Given the description of an element on the screen output the (x, y) to click on. 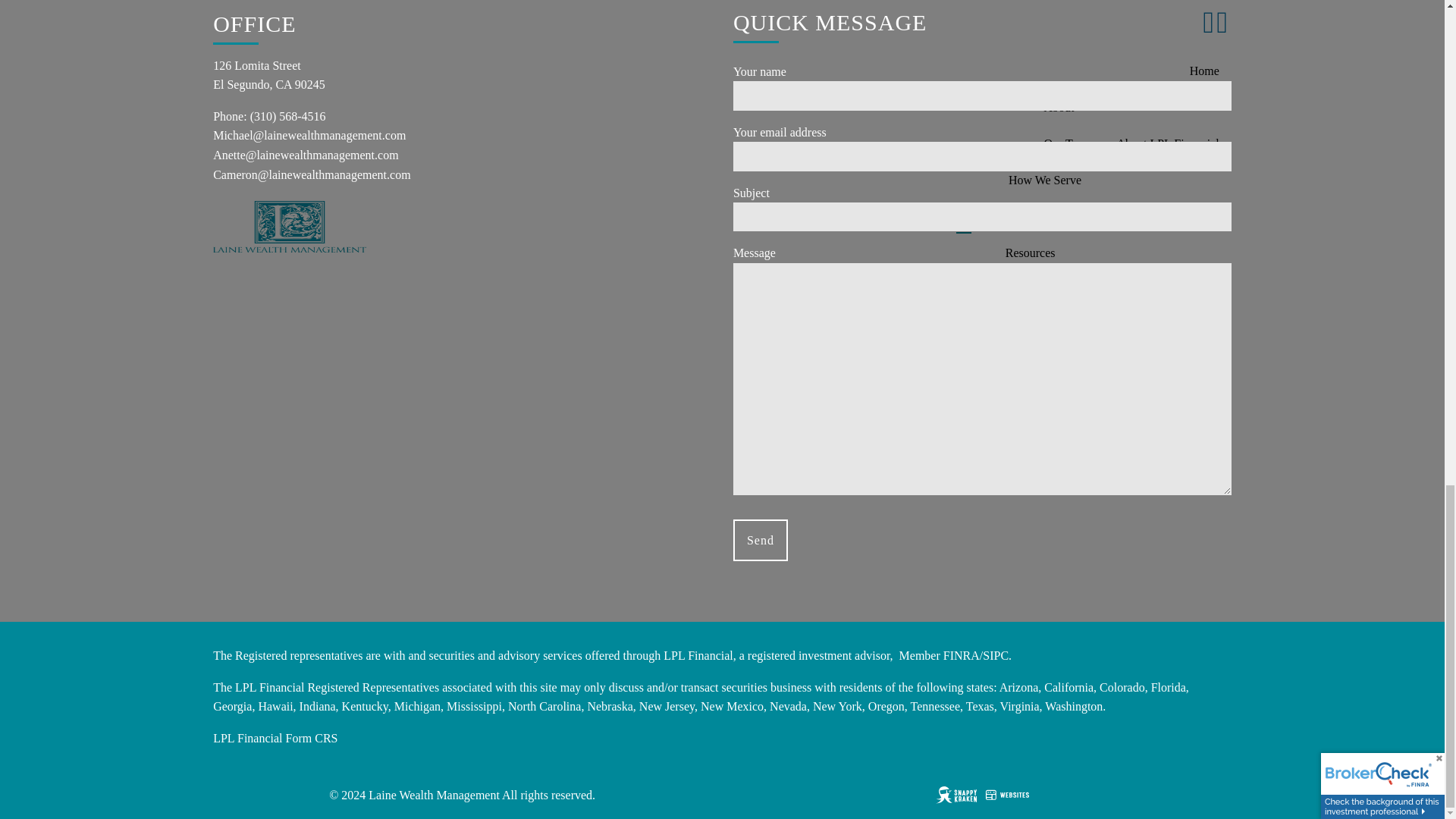
Send (760, 540)
FINRA (961, 655)
SIPC (995, 655)
Form CRS (311, 738)
Send (760, 540)
